Given the description of an element on the screen output the (x, y) to click on. 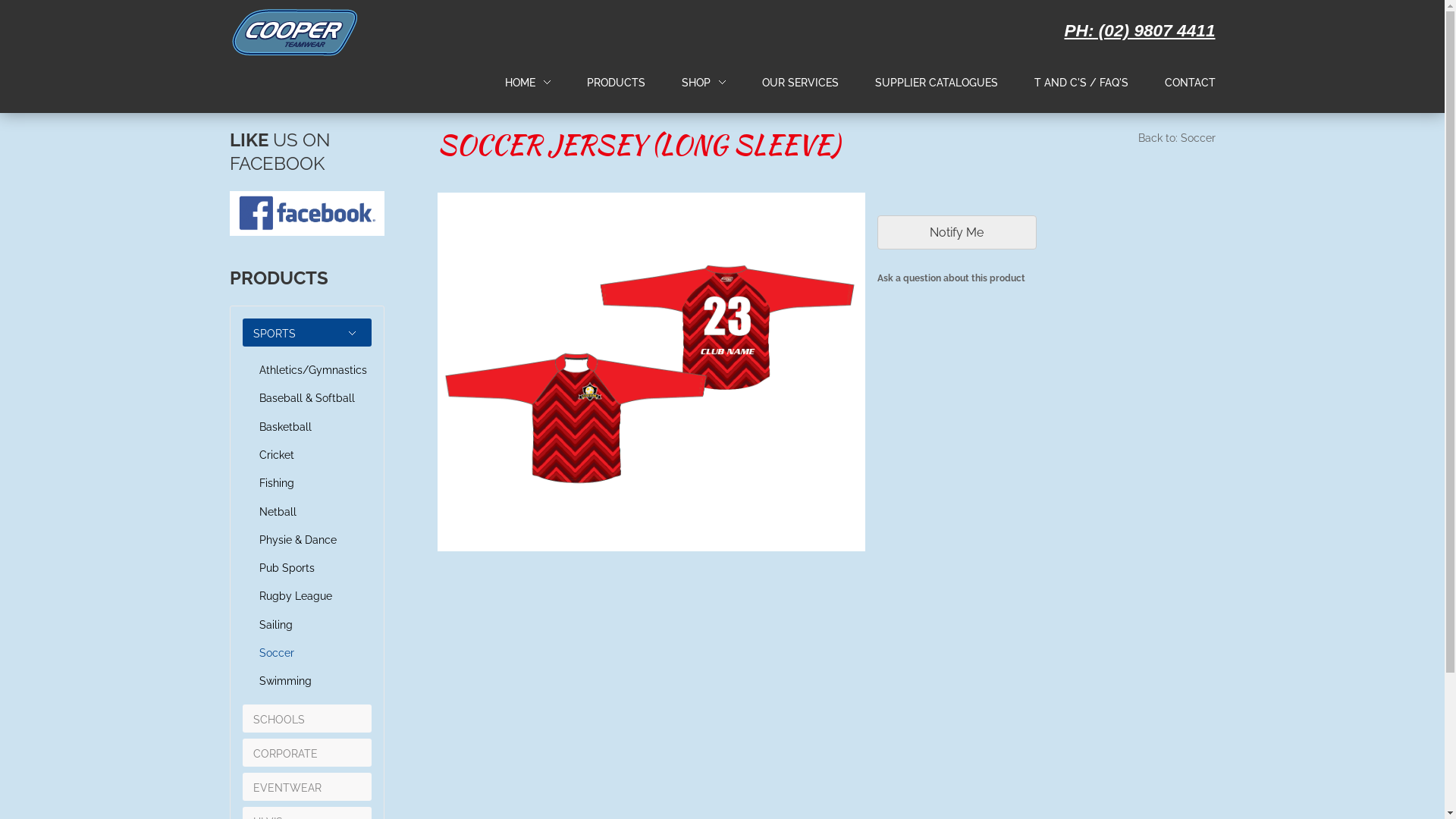
Fishing Element type: text (306, 483)
HOME Element type: text (527, 83)
Cricket Element type: text (306, 455)
SCHOOLS Element type: text (278, 719)
Sailing Element type: text (306, 625)
CORPORATE Element type: text (285, 753)
Pub Sports Element type: text (306, 568)
Physie & Dance Element type: text (306, 540)
Baseball & Softball Element type: text (306, 398)
SHOP Element type: text (694, 82)
Notify Me Element type: text (956, 232)
Basketball Element type: text (306, 427)
HOME Element type: text (520, 82)
Athletics/Gymnastics Element type: text (306, 370)
Ask a question about this product Element type: text (1046, 281)
EVENTWEAR Element type: text (287, 787)
Soccer Element type: text (306, 653)
Swimming Element type: text (306, 681)
T AND C'S / FAQ'S Element type: text (1081, 82)
CONTACT Element type: text (1189, 82)
PRODUCTS Element type: text (615, 82)
CONTACT Element type: text (1189, 83)
Back to: Soccer Element type: text (1175, 140)
OUR SERVICES Element type: text (799, 82)
OUR SERVICES Element type: text (799, 83)
Rugby League Element type: text (306, 596)
T AND C'S / FAQ'S Element type: text (1081, 83)
SUPPLIER CATALOGUES Element type: text (936, 82)
SHOP Element type: text (702, 83)
SUPPLIER CATALOGUES Element type: text (936, 83)
SPORTS Element type: text (274, 333)
PRODUCTS Element type: text (615, 83)
Netball Element type: text (306, 512)
